Given the description of an element on the screen output the (x, y) to click on. 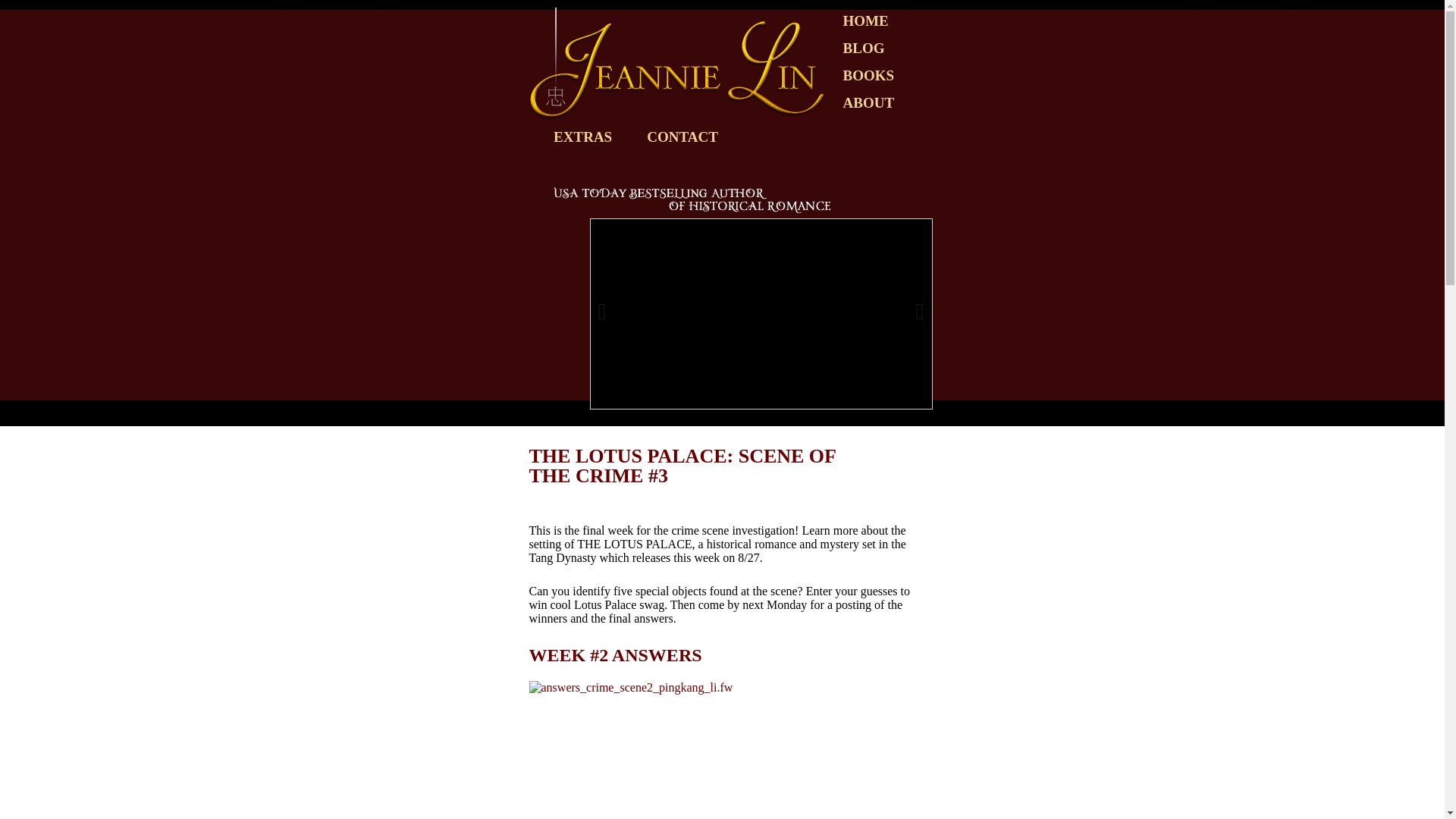
Next Image (888, 313)
CONTACT (681, 136)
EXTRAS (581, 136)
Previous Image (632, 313)
HOME (865, 21)
BLOG (863, 48)
BOOKS (868, 75)
ABOUT (868, 103)
